Given the description of an element on the screen output the (x, y) to click on. 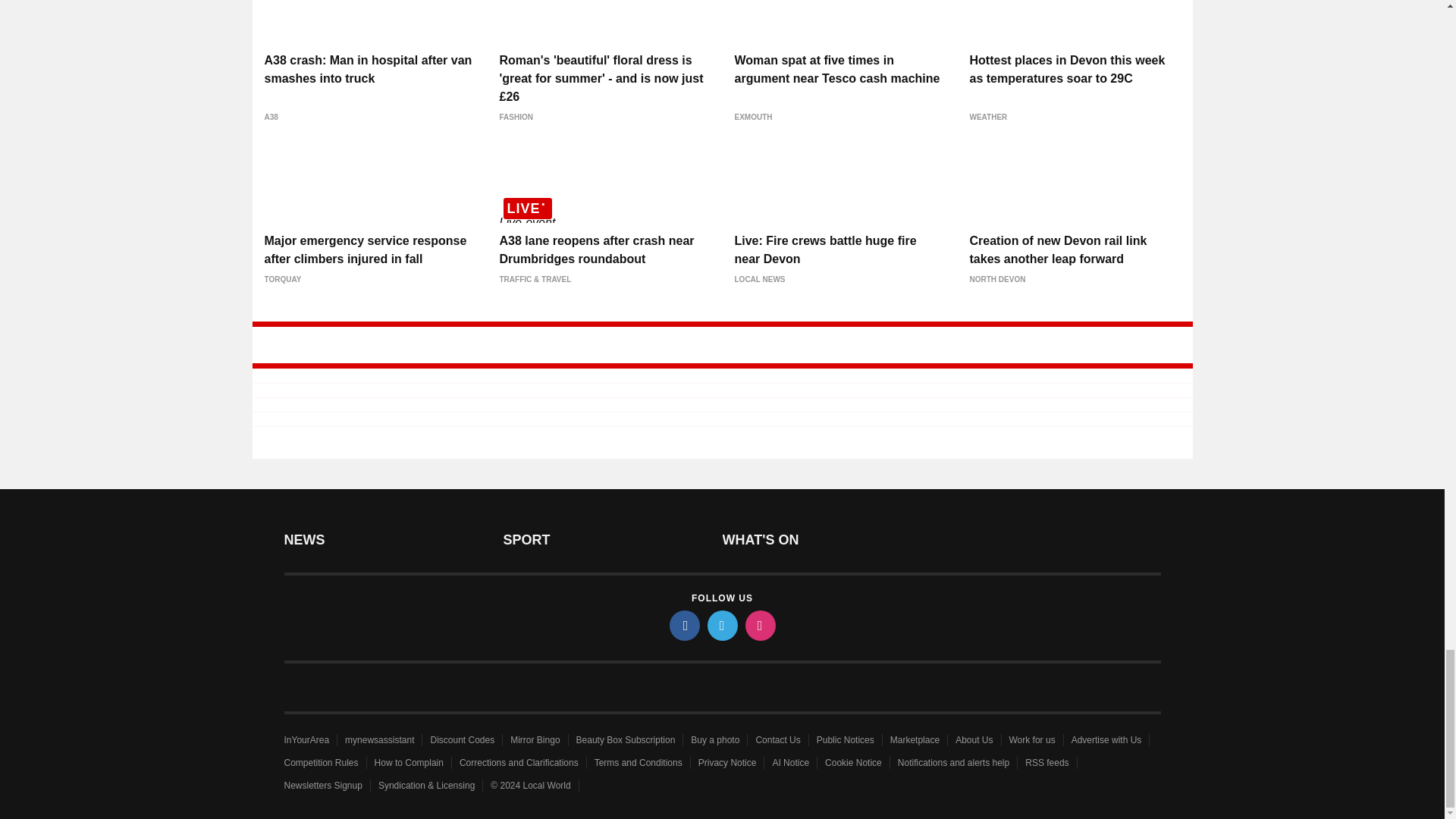
twitter (721, 625)
facebook (683, 625)
instagram (759, 625)
